Given the description of an element on the screen output the (x, y) to click on. 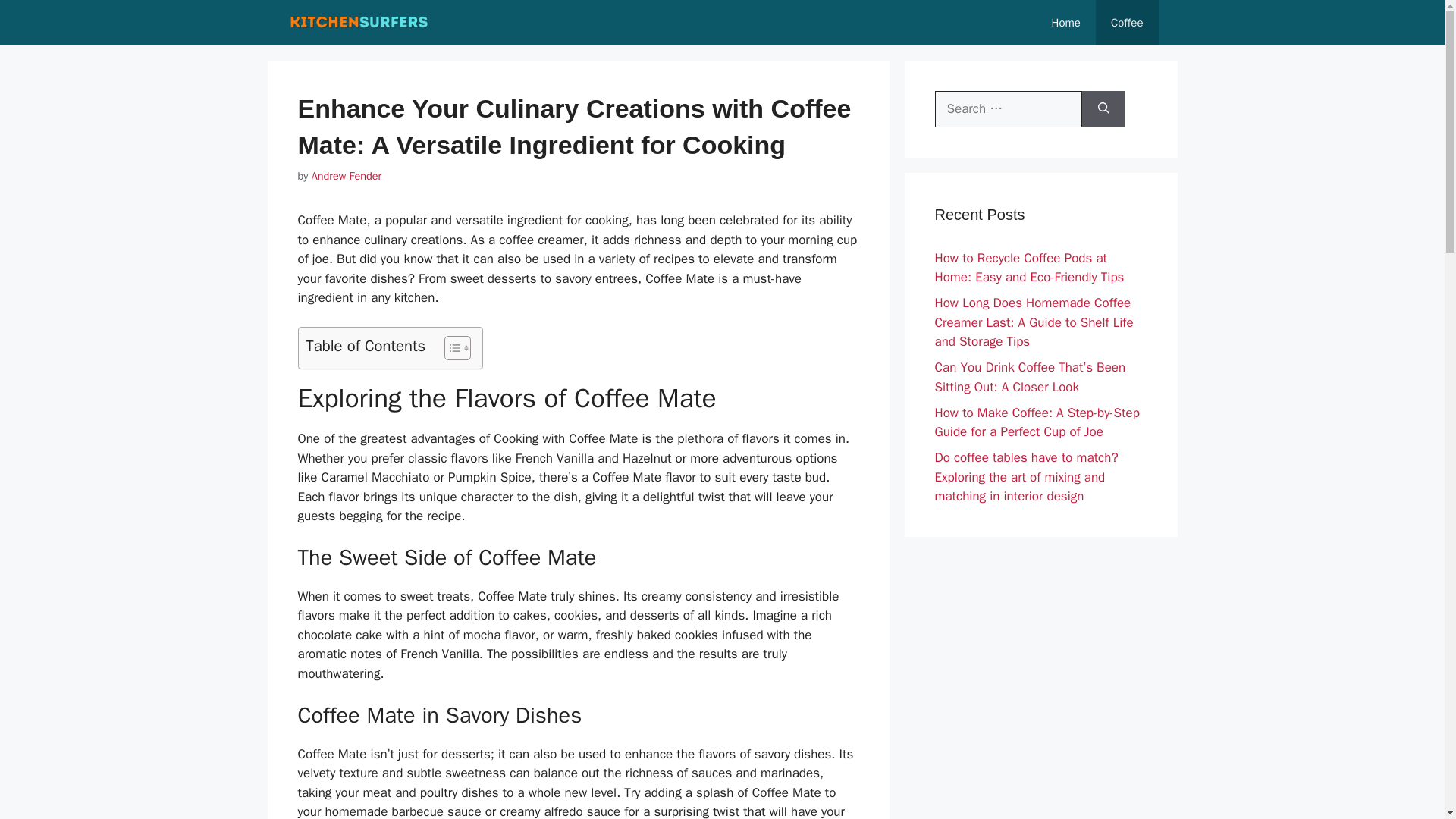
Coffee (1127, 22)
Home (1066, 22)
KitchenSurfers (359, 22)
View all posts by Andrew Fender (346, 175)
Andrew Fender (346, 175)
